Given the description of an element on the screen output the (x, y) to click on. 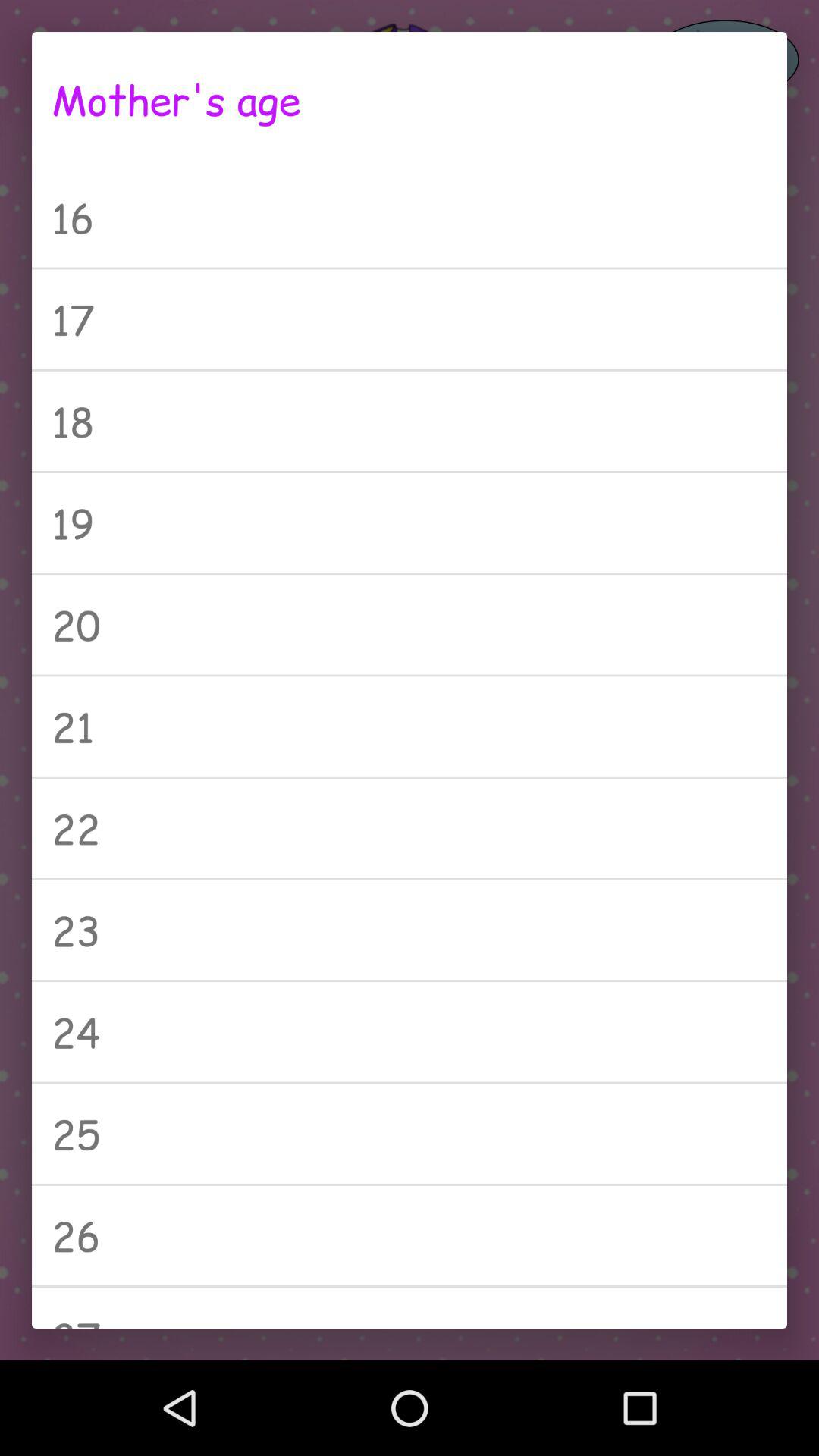
press the item above the 27 (409, 1235)
